Given the description of an element on the screen output the (x, y) to click on. 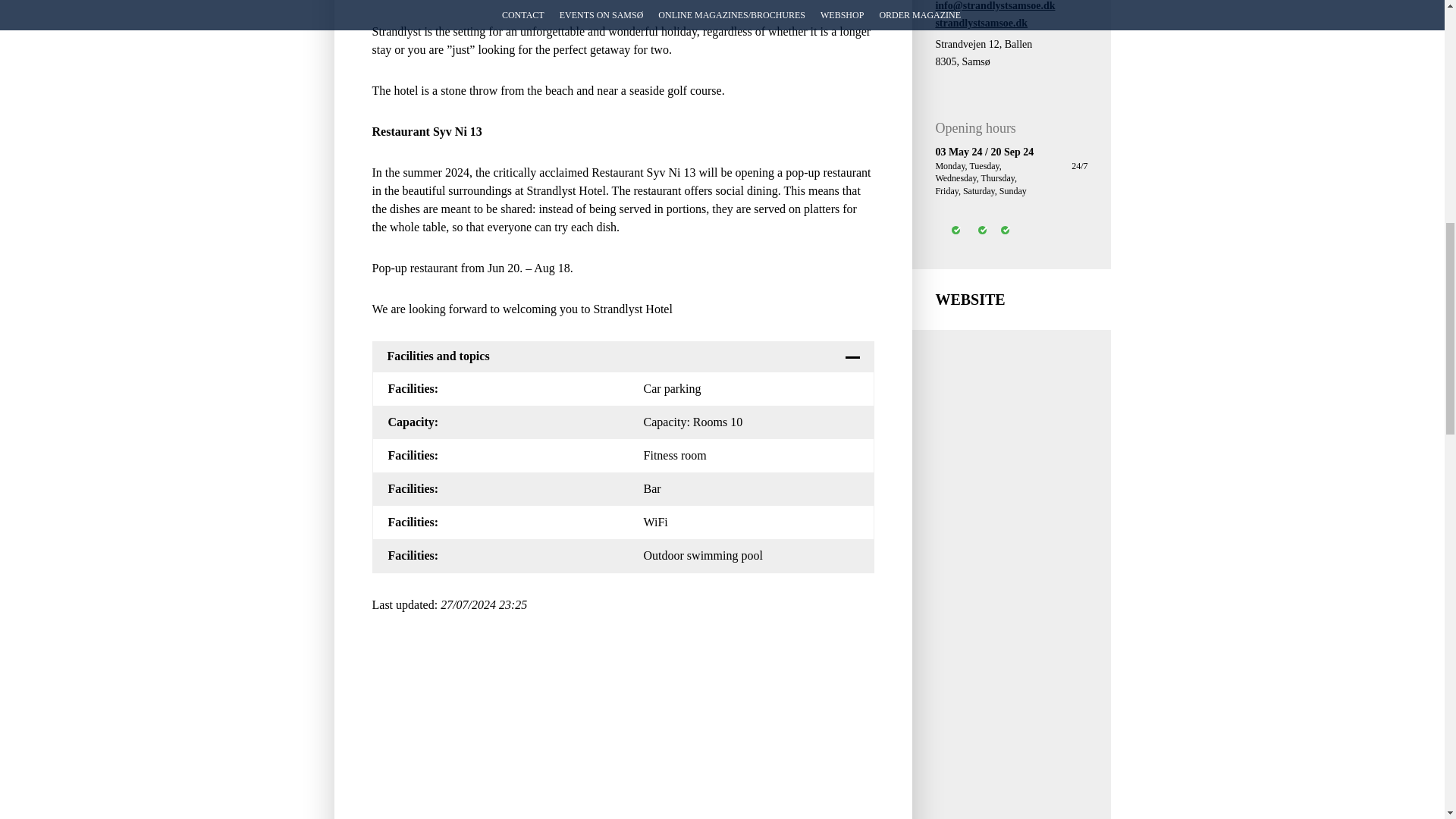
strandlystsamsoe.dk (980, 22)
WEBSITE (1010, 299)
WIFI (943, 239)
Breakfast included (969, 239)
Open now (997, 239)
